Given the description of an element on the screen output the (x, y) to click on. 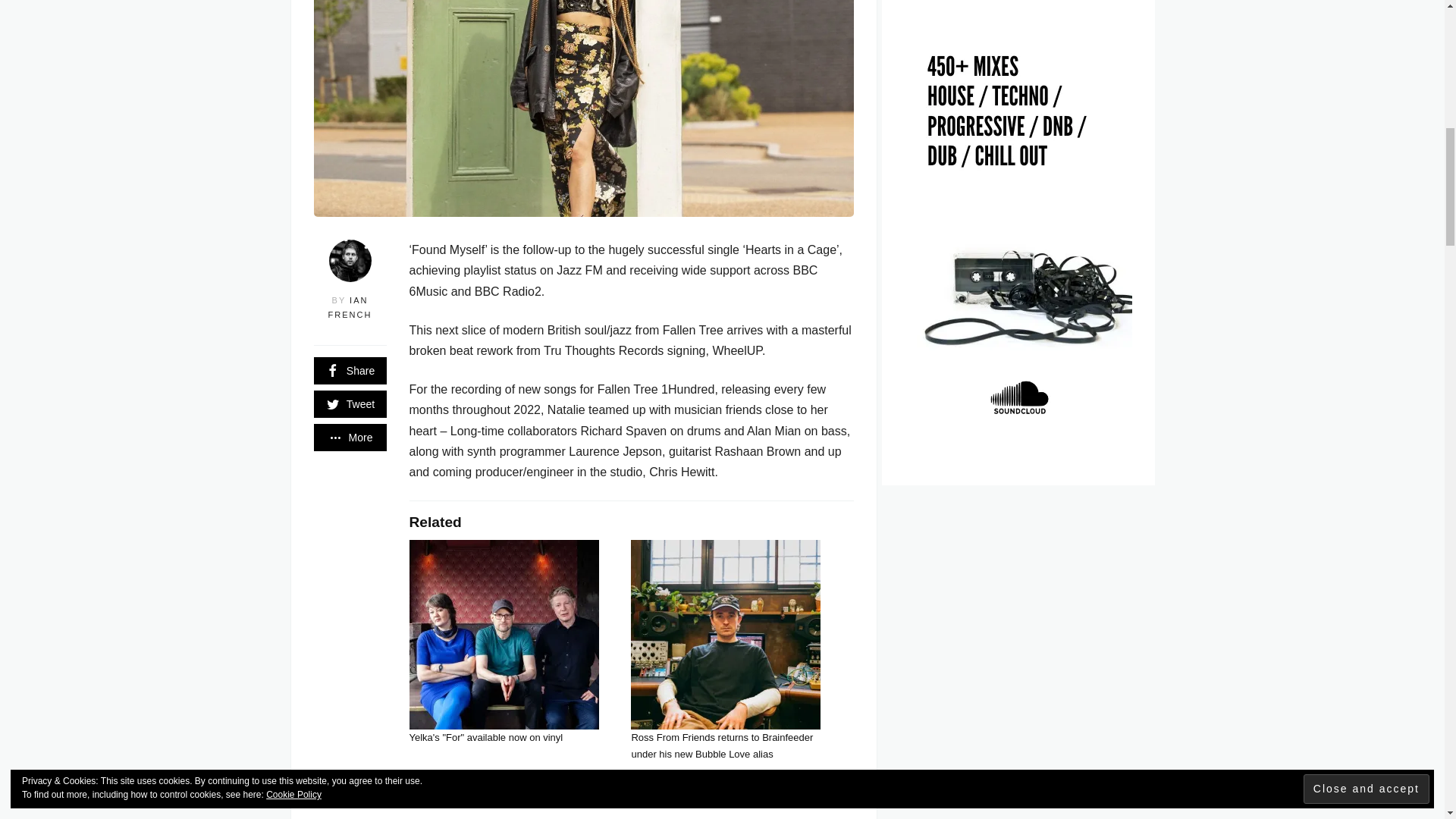
Yelka's "For" available now on vinyl (486, 737)
